Given the description of an element on the screen output the (x, y) to click on. 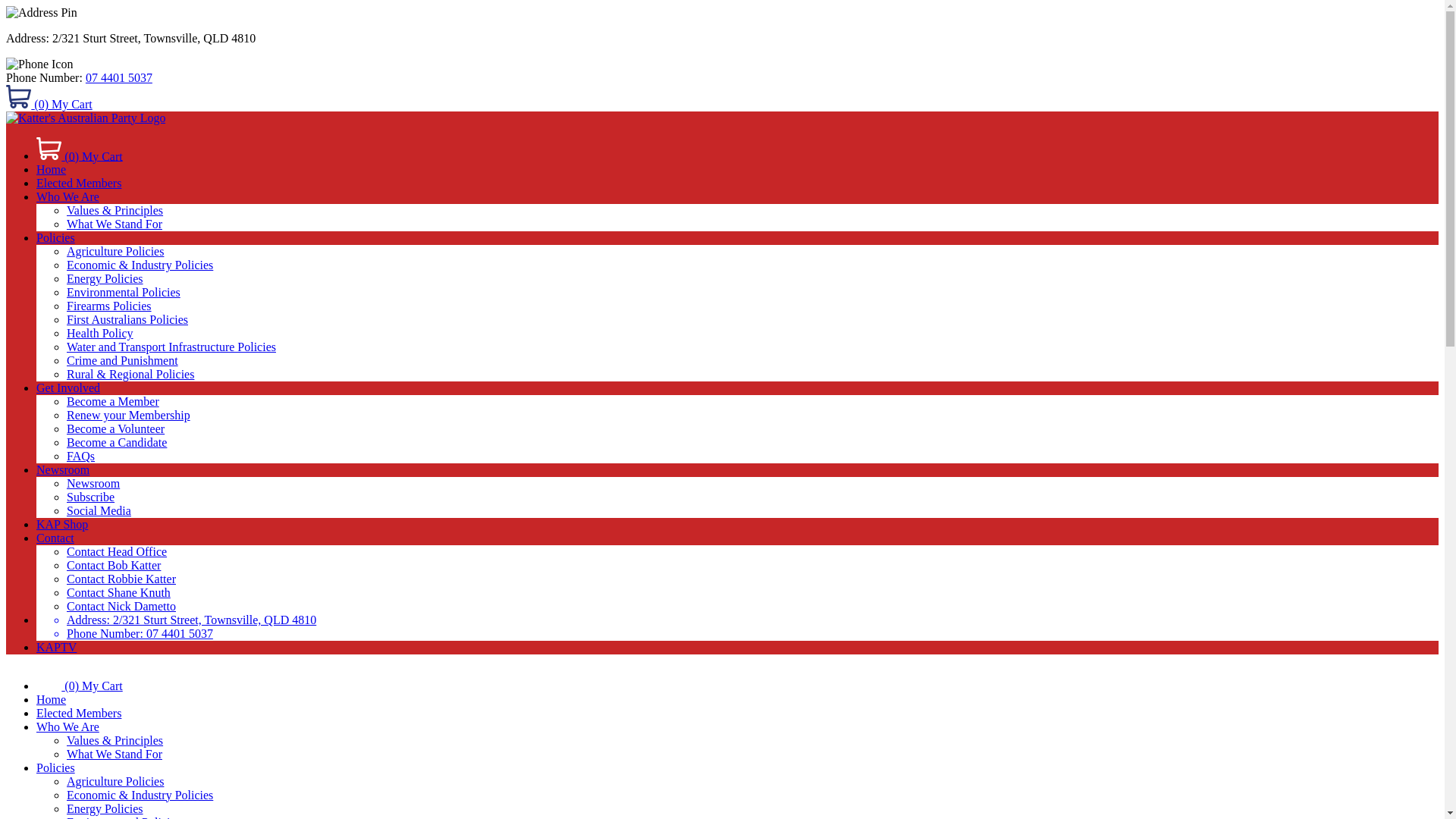
Environmental Policies Element type: text (123, 291)
Energy Policies Element type: text (104, 278)
Agriculture Policies Element type: text (114, 250)
Values & Principles Element type: text (114, 740)
Contact Nick Dametto Element type: text (120, 605)
Energy Policies Element type: text (104, 808)
Who We Are Element type: text (67, 726)
Health Policy Element type: text (99, 332)
(0) My Cart Element type: text (737, 679)
Economic & Industry Policies Element type: text (139, 264)
Crime and Punishment Element type: text (122, 360)
Become a Member Element type: text (112, 401)
Katter's Australian Party Logo Element type: hover (85, 118)
07 4401 5037 Element type: text (118, 77)
Elected Members Element type: text (78, 182)
KAP Shop Element type: text (61, 523)
Rural & Regional Policies Element type: text (130, 373)
Home Element type: text (50, 169)
Become a Volunteer Element type: text (115, 428)
Firearms Policies Element type: text (108, 305)
Social Media Element type: text (98, 510)
Contact Element type: text (55, 537)
Become a Candidate Element type: text (116, 442)
Contact Head Office Element type: text (116, 551)
Newsroom Element type: text (92, 482)
(0) My Cart Element type: text (737, 150)
What We Stand For Element type: text (114, 753)
Get Involved Element type: text (68, 387)
Water and Transport Infrastructure Policies Element type: text (171, 346)
Renew your Membership Element type: text (128, 414)
Policies Element type: text (55, 767)
KAPTV Element type: text (56, 646)
Policies Element type: text (55, 237)
Contact Shane Knuth Element type: text (118, 592)
Contact Bob Katter Element type: text (113, 564)
Elected Members Element type: text (78, 712)
FAQs Element type: text (80, 455)
Who We Are Element type: text (67, 196)
Economic & Industry Policies Element type: text (139, 794)
What We Stand For Element type: text (114, 223)
(0) My Cart Element type: text (722, 97)
Subscribe Element type: text (90, 496)
Newsroom Element type: text (62, 469)
Contact Robbie Katter Element type: text (120, 578)
First Australians Policies Element type: text (127, 319)
Values & Principles Element type: text (114, 209)
Home Element type: text (50, 699)
Agriculture Policies Element type: text (114, 781)
